Given the description of an element on the screen output the (x, y) to click on. 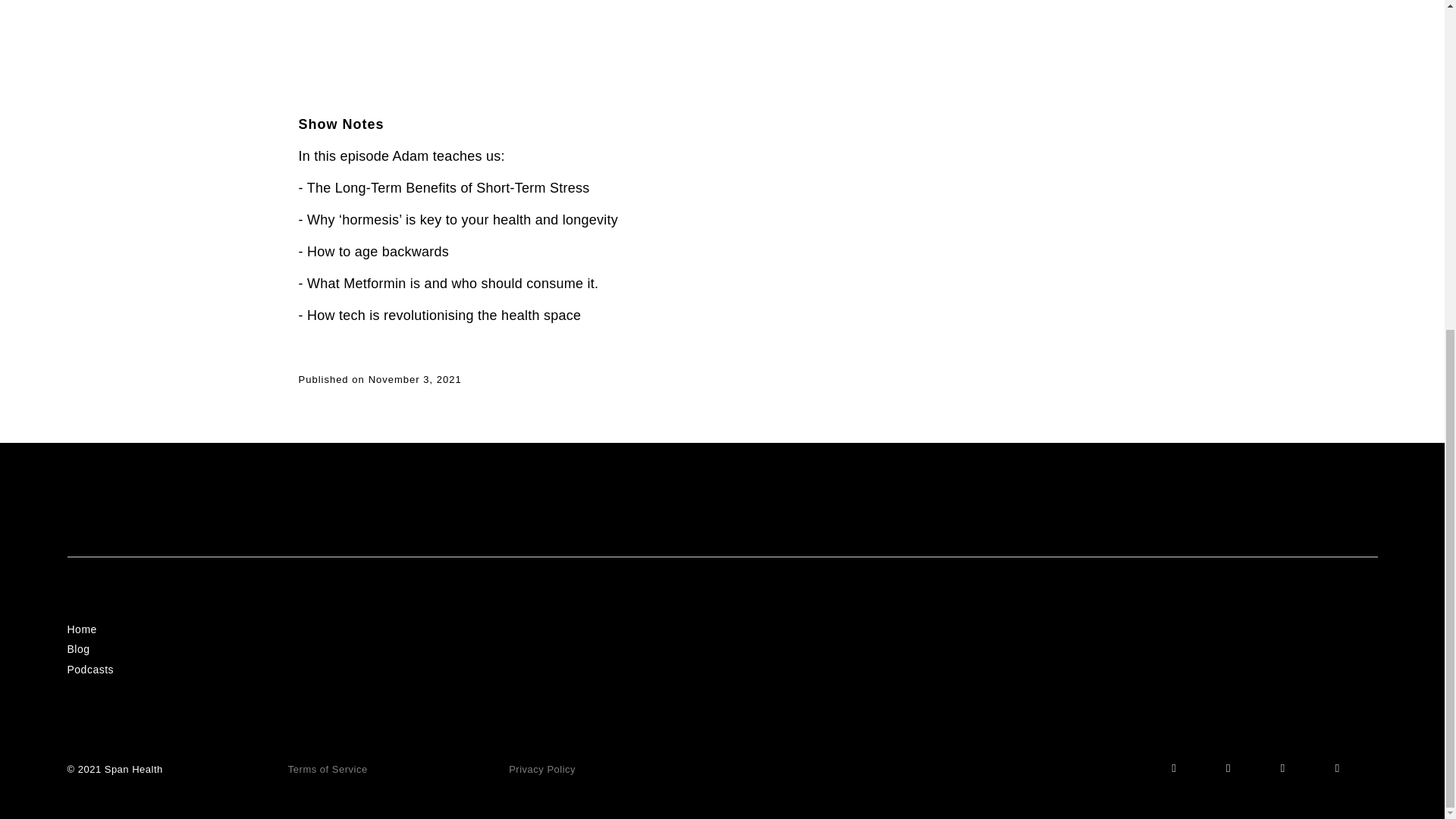
Privacy Policy (541, 769)
Terms of Service (328, 769)
Podcasts (89, 669)
Home (81, 628)
Blog (77, 648)
